Given the description of an element on the screen output the (x, y) to click on. 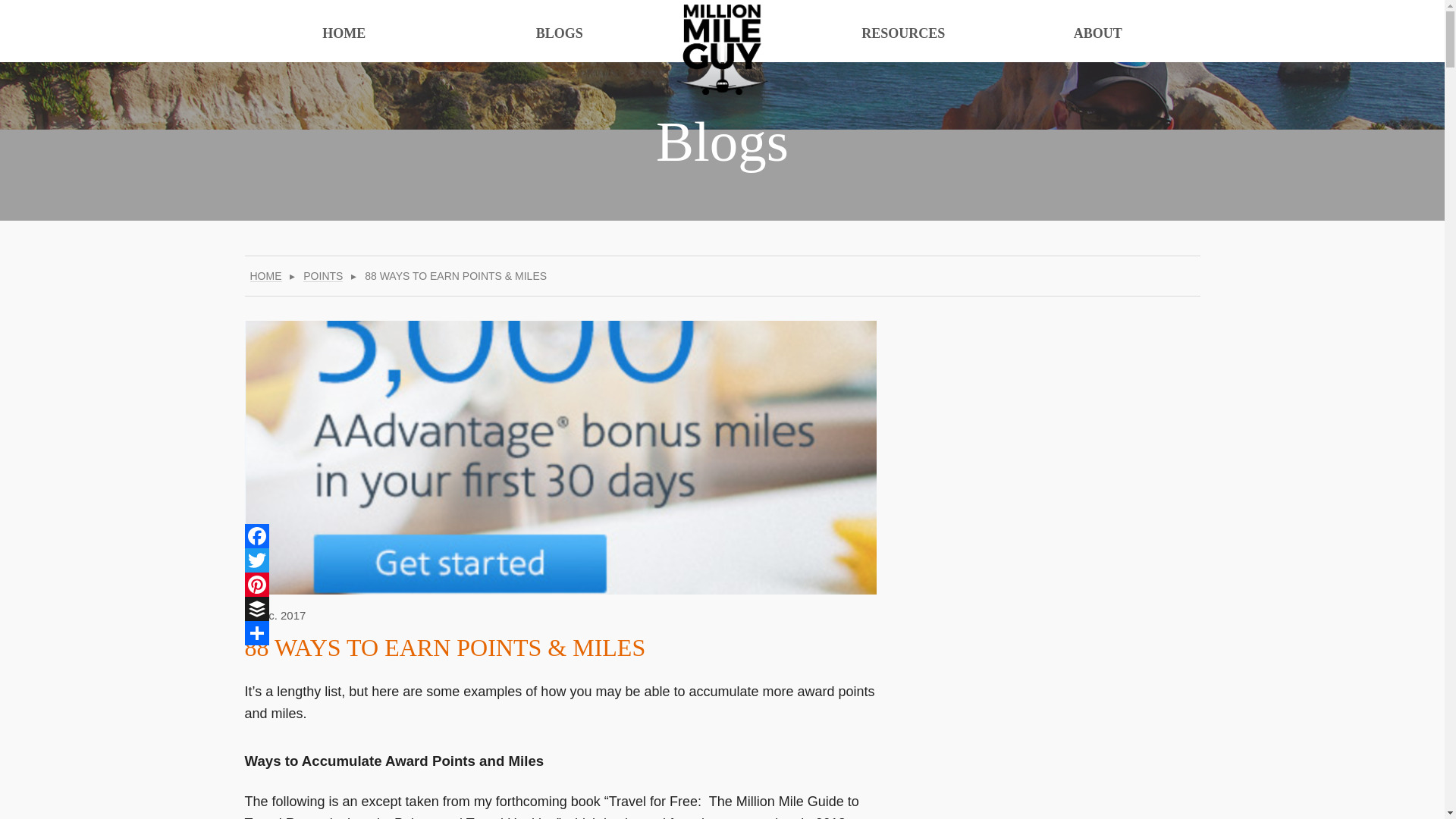
ABOUT (1097, 31)
Pinterest (255, 584)
HOME (266, 276)
Facebook (255, 535)
Buffer (255, 608)
RESOURCES (903, 31)
Twitter (255, 559)
Pinterest (255, 584)
Buffer (255, 608)
Facebook (255, 535)
